Given the description of an element on the screen output the (x, y) to click on. 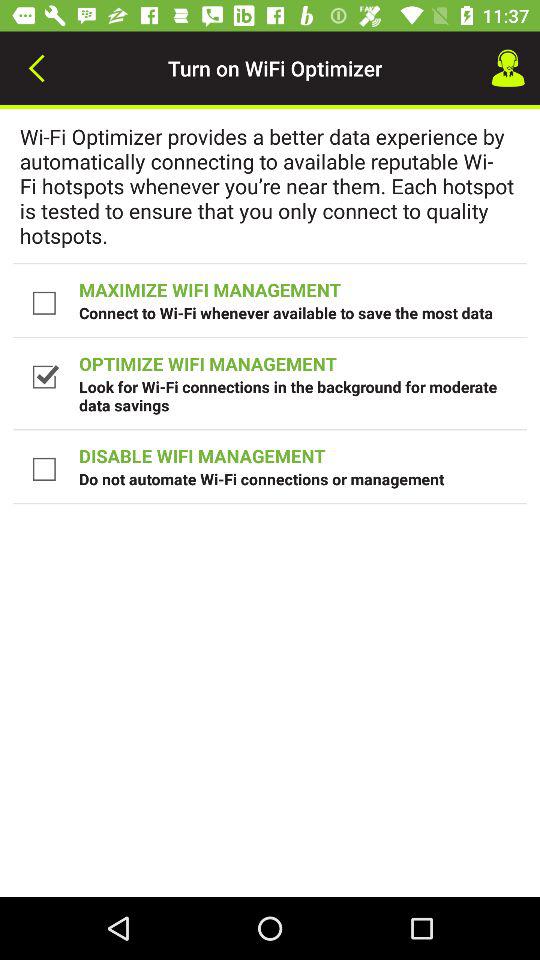
press the icon to the right of turn on wifi item (508, 67)
